Given the description of an element on the screen output the (x, y) to click on. 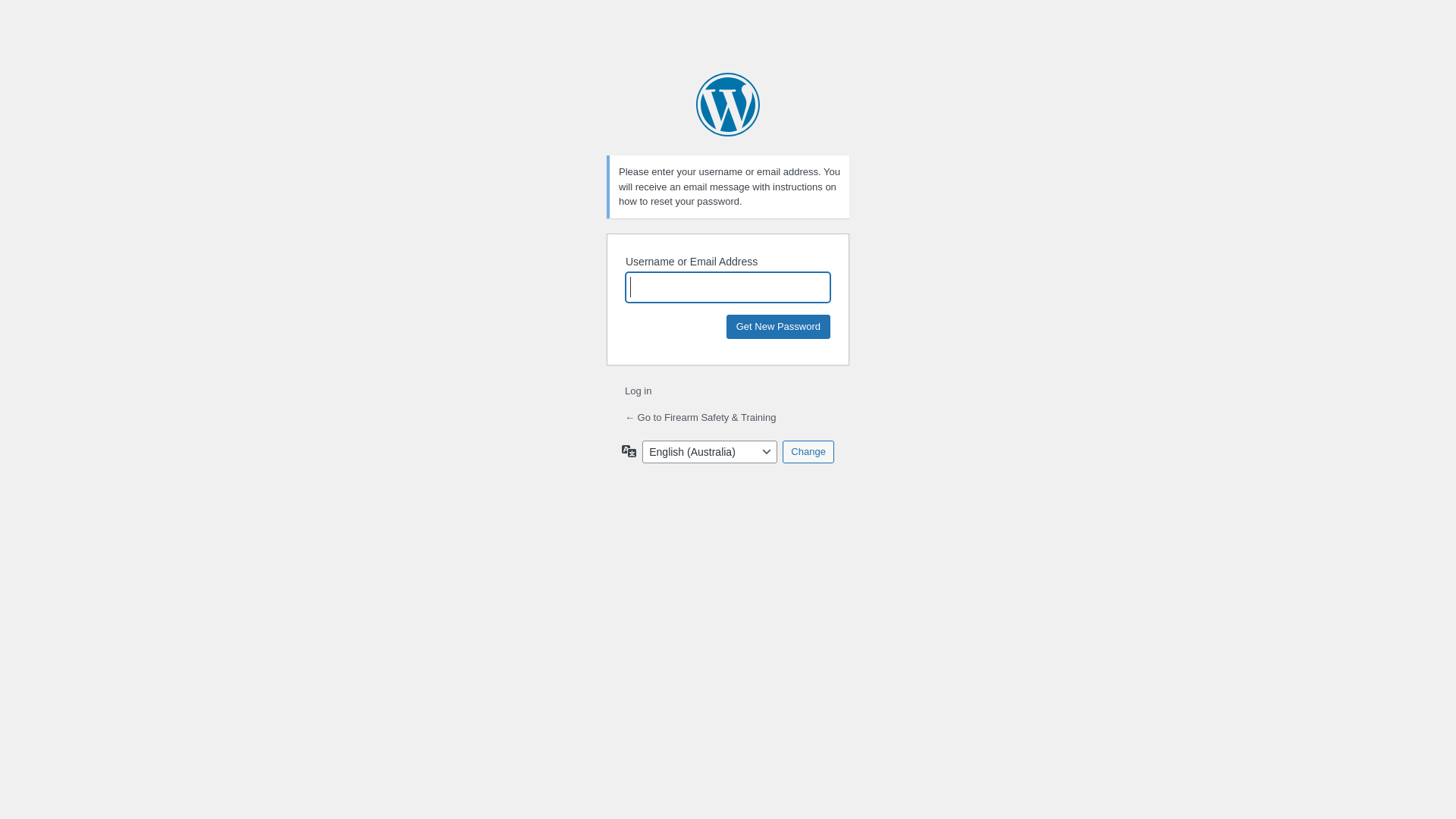
Change Element type: text (808, 450)
Get New Password Element type: text (778, 325)
Log in Element type: text (637, 390)
Powered by WordPress Element type: text (727, 104)
